Given the description of an element on the screen output the (x, y) to click on. 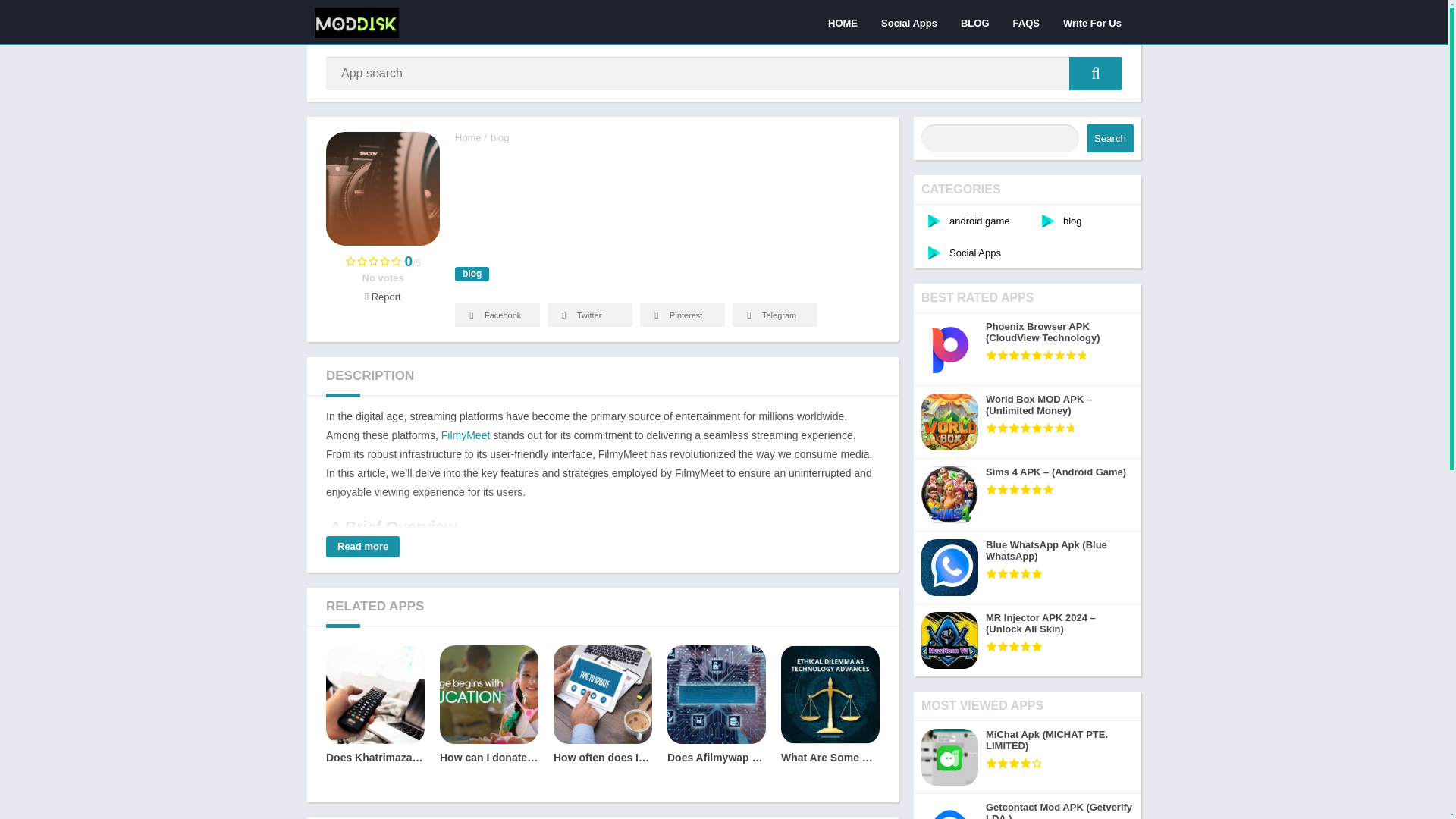
Pinterest (682, 314)
Social Apps (909, 22)
blog (499, 137)
BLOG (975, 22)
FilmyMeet (465, 435)
Write For Us (1091, 22)
ModDisk (467, 137)
Telegram (774, 314)
blog (471, 273)
FAQS (1026, 22)
HOME (842, 22)
Facebook (497, 314)
Home (467, 137)
Report (382, 296)
Twitter (589, 314)
